Given the description of an element on the screen output the (x, y) to click on. 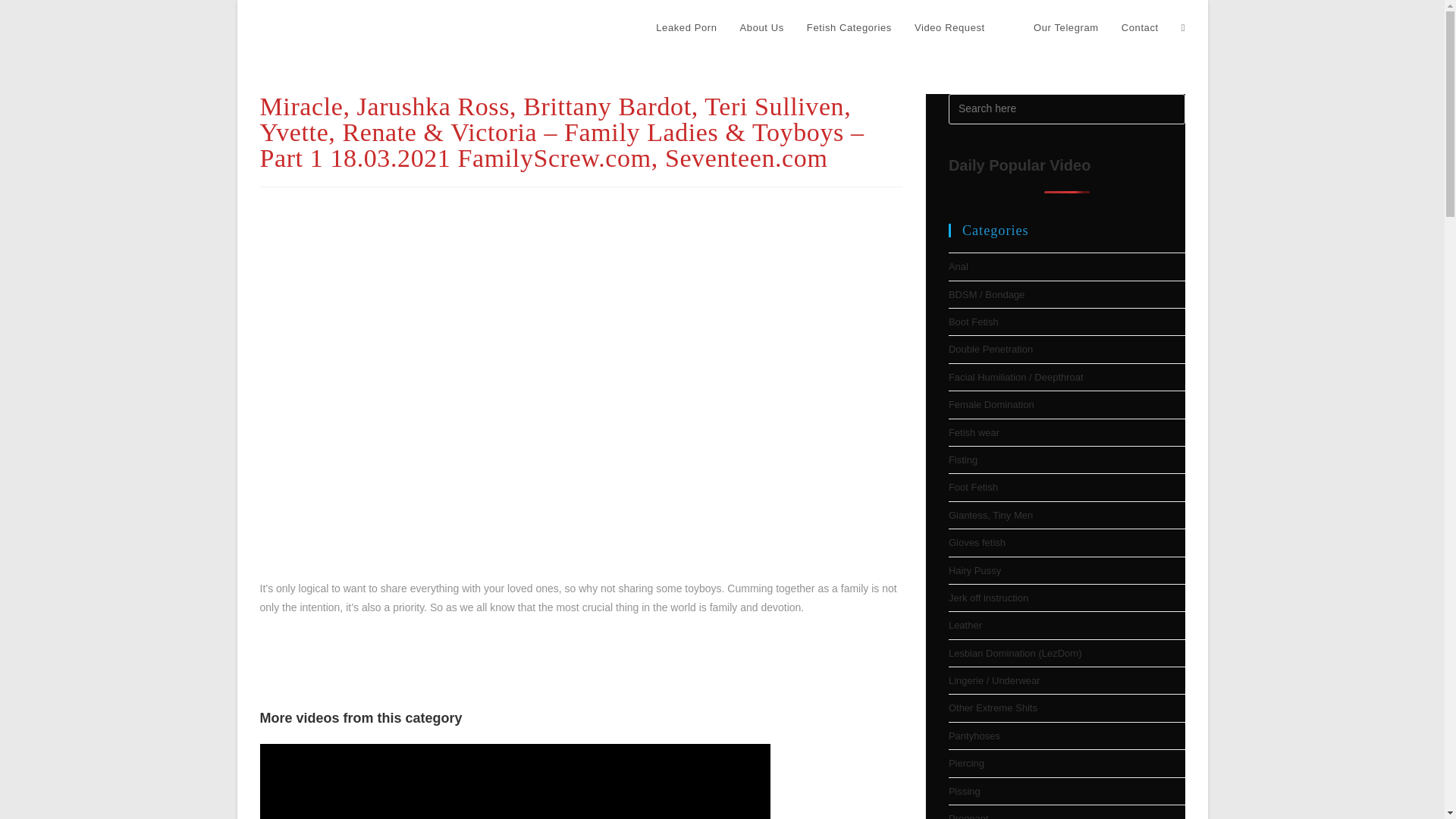
Our Telegram (1052, 28)
About Us (761, 28)
Fetish Categories (848, 28)
Contact (1139, 28)
Leaked Porn (686, 28)
Thetinyfeettreat - SPH And CEI Instead Of A Valentine (387, 781)
PAINTEDROSE - AUNTIE CUCKS SON FOR MOMS USED PUSSY (641, 781)
Video Request (948, 28)
